Given the description of an element on the screen output the (x, y) to click on. 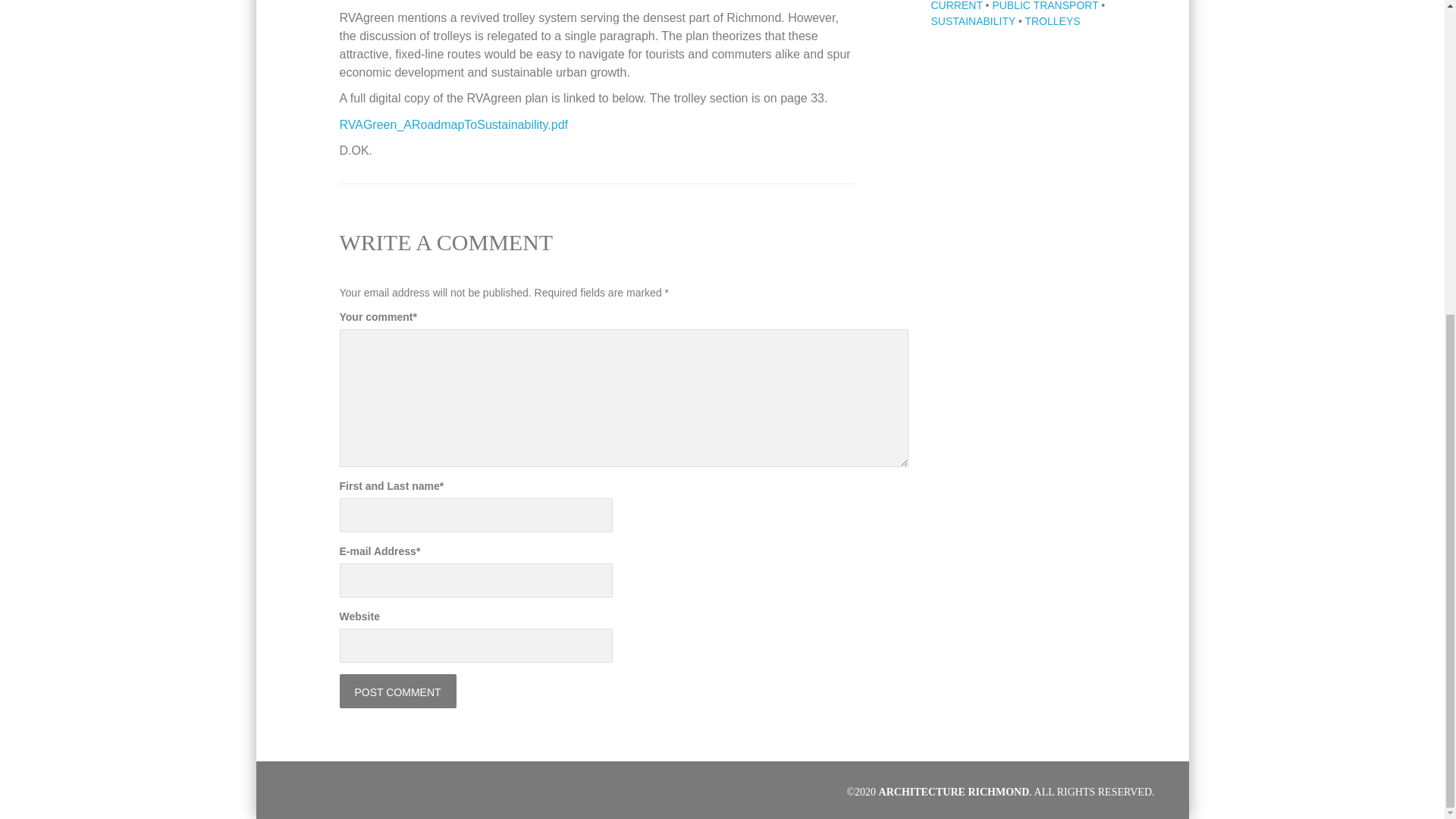
CURRENT (956, 5)
SUSTAINABILITY (973, 21)
TROLLEYS (1052, 21)
Post Comment (398, 691)
PUBLIC TRANSPORT (1044, 5)
Post Comment (398, 691)
